Given the description of an element on the screen output the (x, y) to click on. 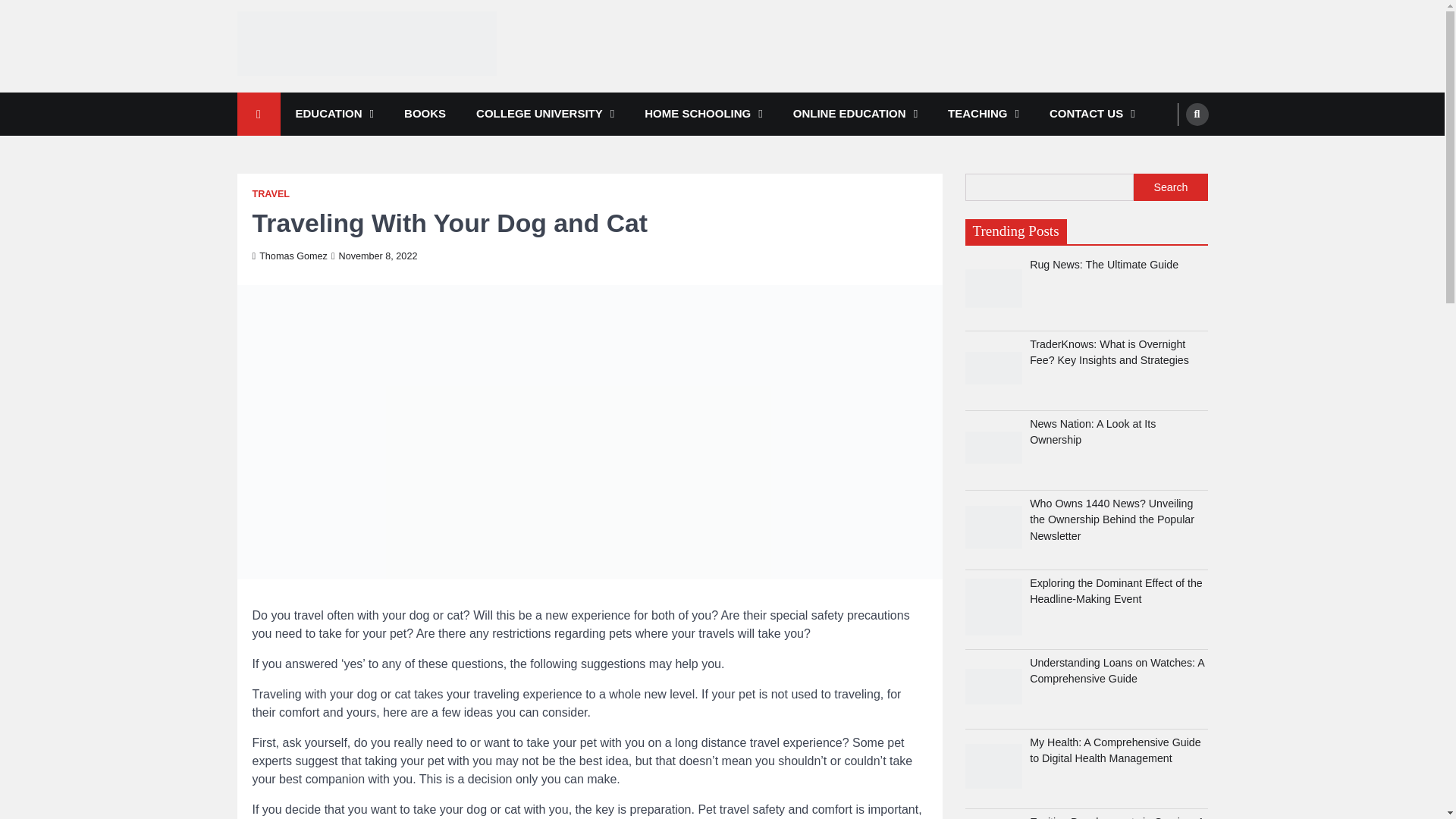
HOME SCHOOLING (702, 113)
TRAVEL (270, 194)
EDUCATION (335, 113)
Exploring the Dominant Effect of the Headline-Making Event (992, 606)
Search (1168, 149)
Rugby News: The Ultimate Guide (992, 288)
BOOKS (424, 113)
Thomas Gomez (288, 255)
CONTACT US (1091, 113)
